Given the description of an element on the screen output the (x, y) to click on. 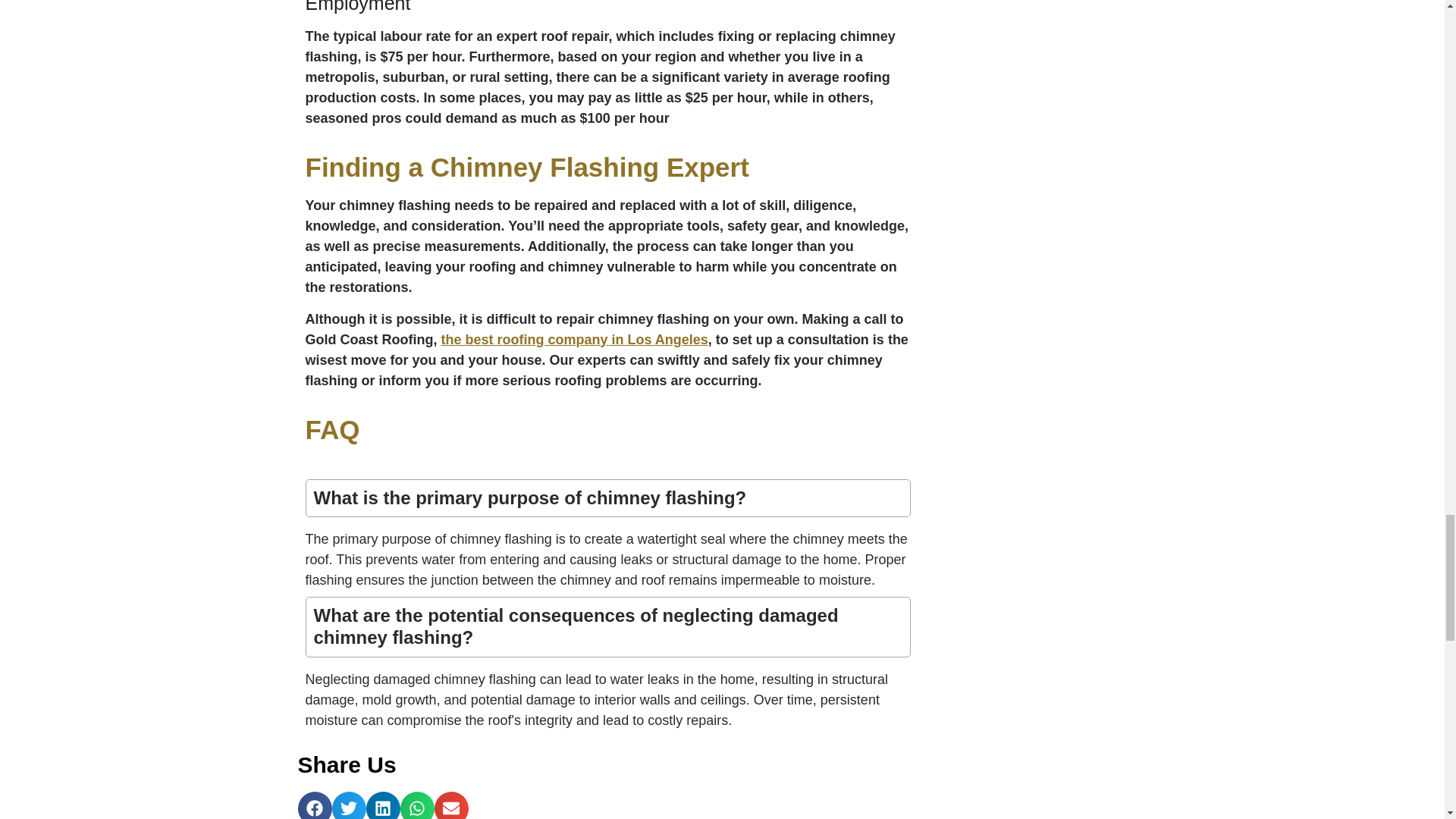
the best roofing company in Los Angeles (574, 339)
